Given the description of an element on the screen output the (x, y) to click on. 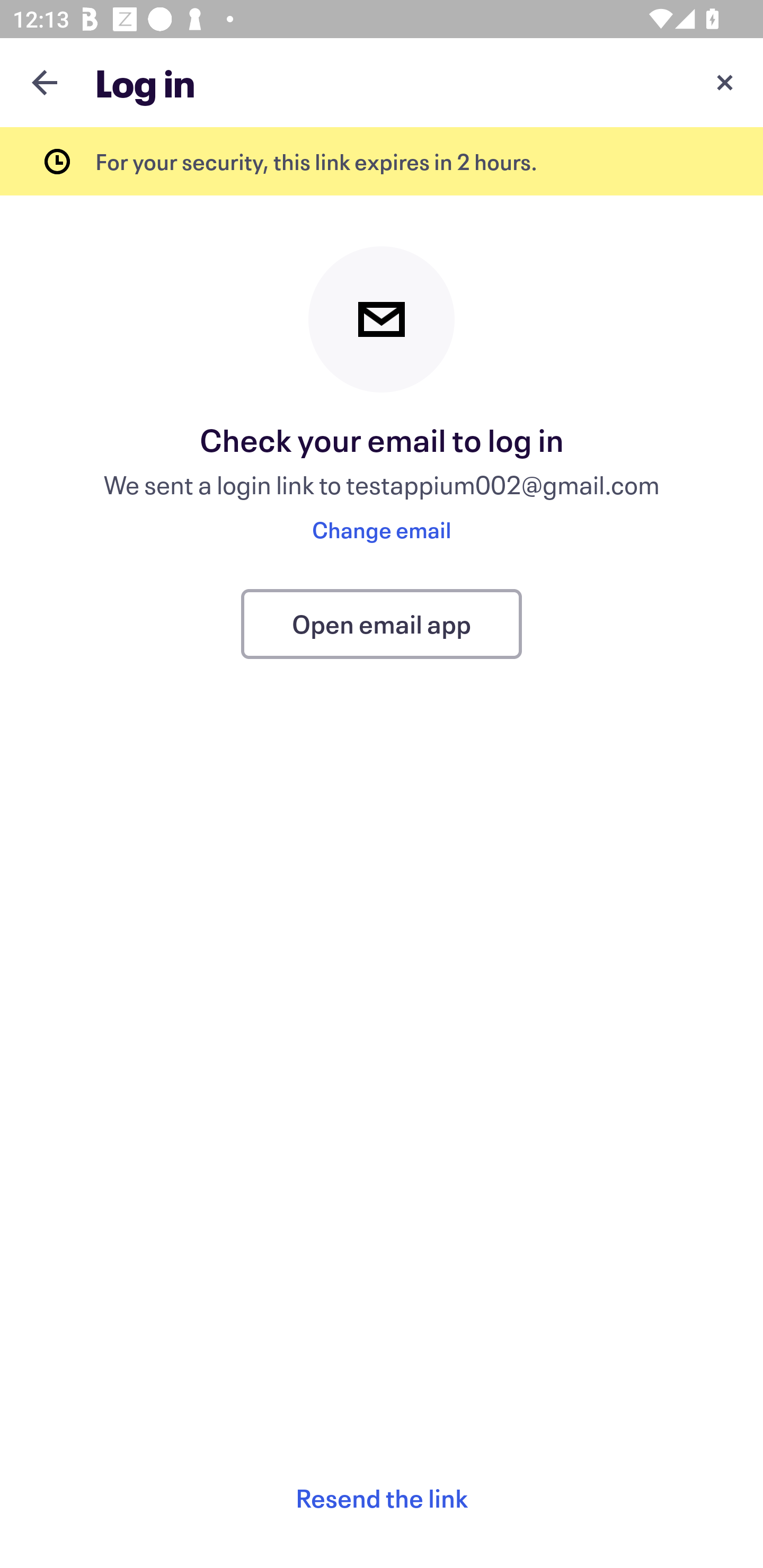
Navigate up (44, 82)
Cancel (724, 81)
Change email (381, 529)
Open email app (381, 623)
Resend the link (381, 1497)
